Given the description of an element on the screen output the (x, y) to click on. 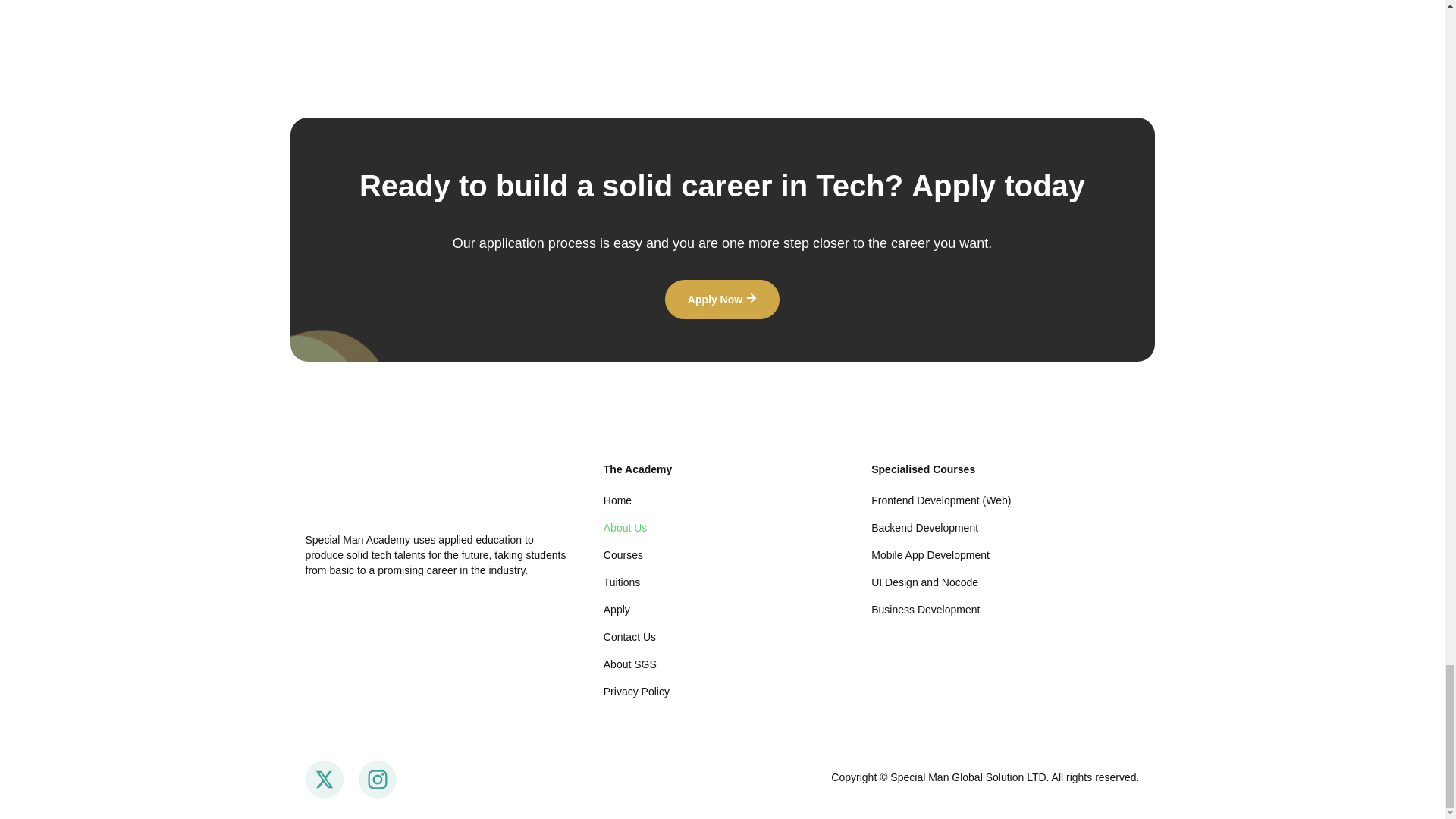
Courses (722, 554)
Apply Now (721, 299)
Apply (722, 609)
Home (722, 500)
About Us (722, 527)
Tuitions (722, 581)
